Given the description of an element on the screen output the (x, y) to click on. 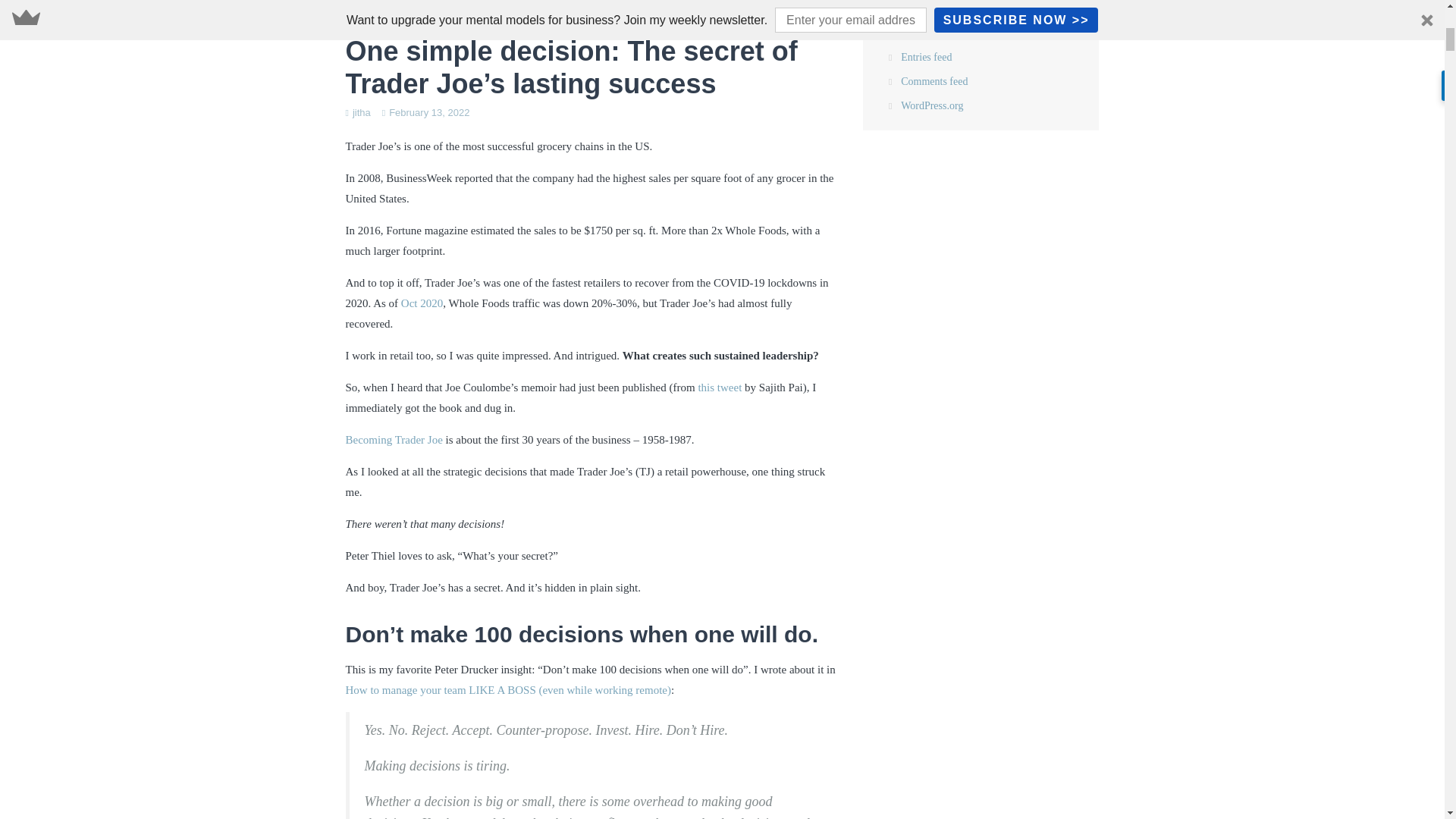
February 13, 2022 (428, 112)
Becoming Trader Joe (394, 439)
Oct 2020 (421, 303)
this tweet (719, 387)
jitha (361, 112)
